Given the description of an element on the screen output the (x, y) to click on. 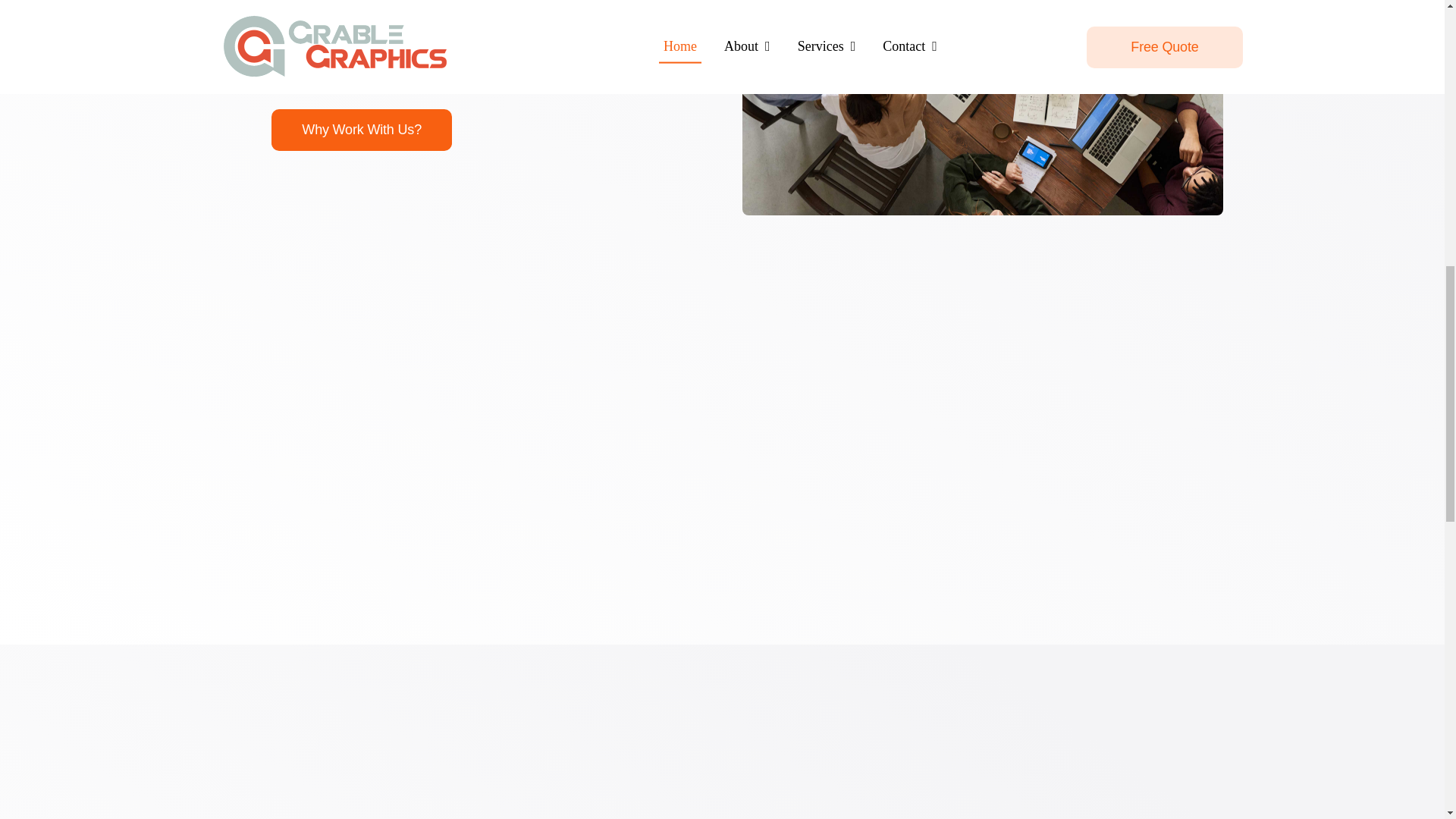
Why Work With Us? (360, 129)
We boost our clients (982, 108)
